Given the description of an element on the screen output the (x, y) to click on. 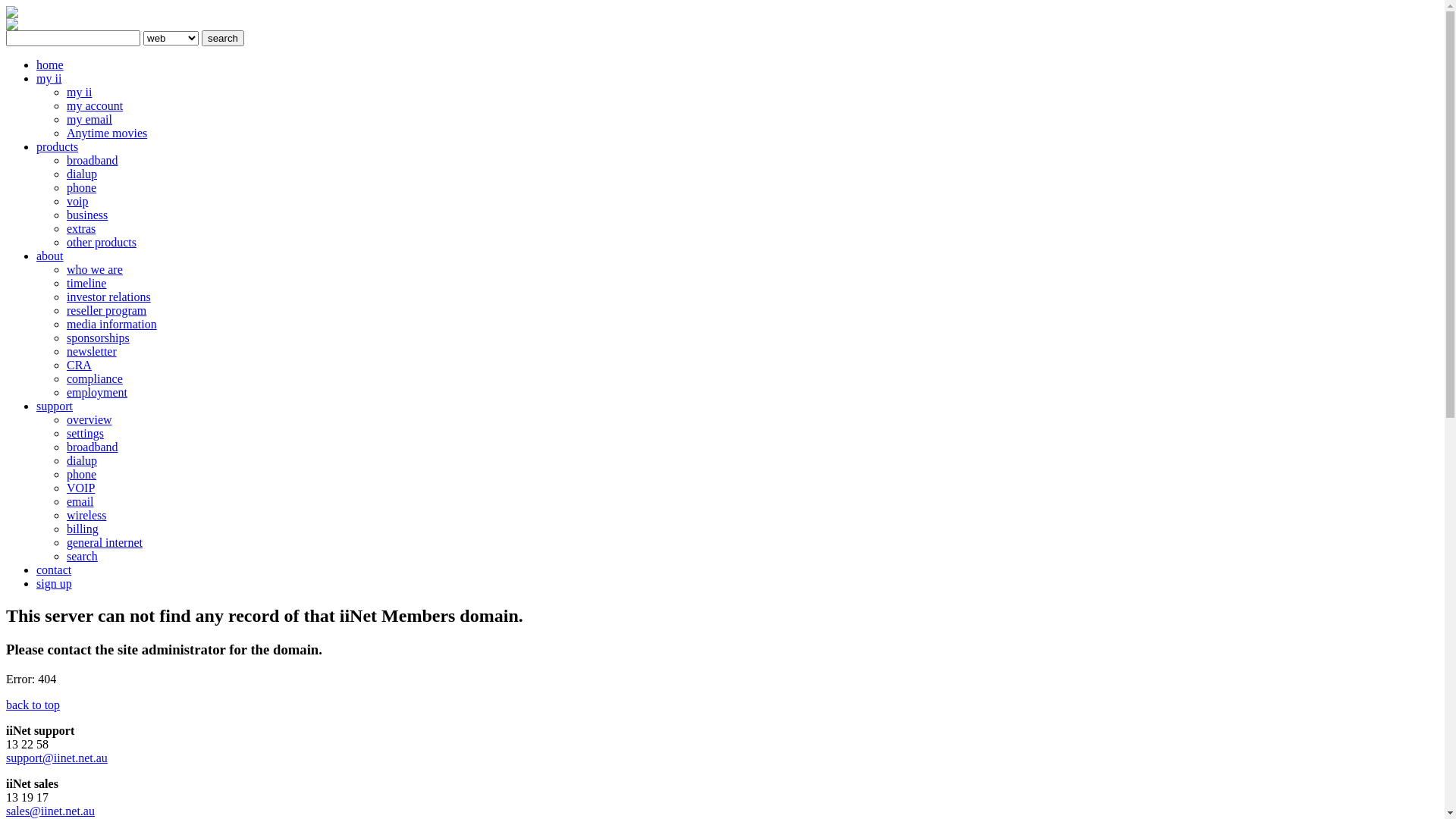
settings Element type: text (84, 432)
wireless Element type: text (86, 514)
broadband Element type: text (92, 159)
overview Element type: text (89, 419)
timeline Element type: text (86, 282)
my account Element type: text (94, 105)
business Element type: text (86, 214)
compliance Element type: text (94, 378)
sponsorships Element type: text (97, 337)
extras Element type: text (80, 228)
employment Element type: text (96, 391)
Anytime movies Element type: text (106, 132)
home Element type: text (49, 64)
support@iinet.net.au Element type: text (56, 757)
VOIP Element type: text (80, 487)
support Element type: text (54, 405)
media information Element type: text (111, 323)
general internet Element type: text (104, 542)
sign up Element type: text (54, 583)
billing Element type: text (82, 528)
back to top Element type: text (32, 704)
phone Element type: text (81, 473)
voip Element type: text (76, 200)
newsletter Element type: text (91, 351)
my ii Element type: text (78, 91)
dialup Element type: text (81, 460)
other products Element type: text (101, 241)
investor relations Element type: text (108, 296)
contact Element type: text (53, 569)
my email Element type: text (89, 118)
sales@iinet.net.au Element type: text (50, 810)
reseller program Element type: text (106, 310)
broadband Element type: text (92, 446)
products Element type: text (57, 146)
search Element type: text (222, 38)
my ii Element type: text (48, 78)
dialup Element type: text (81, 173)
who we are Element type: text (94, 269)
email Element type: text (80, 501)
CRA Element type: text (78, 364)
about Element type: text (49, 255)
phone Element type: text (81, 187)
search Element type: text (81, 555)
